Given the description of an element on the screen output the (x, y) to click on. 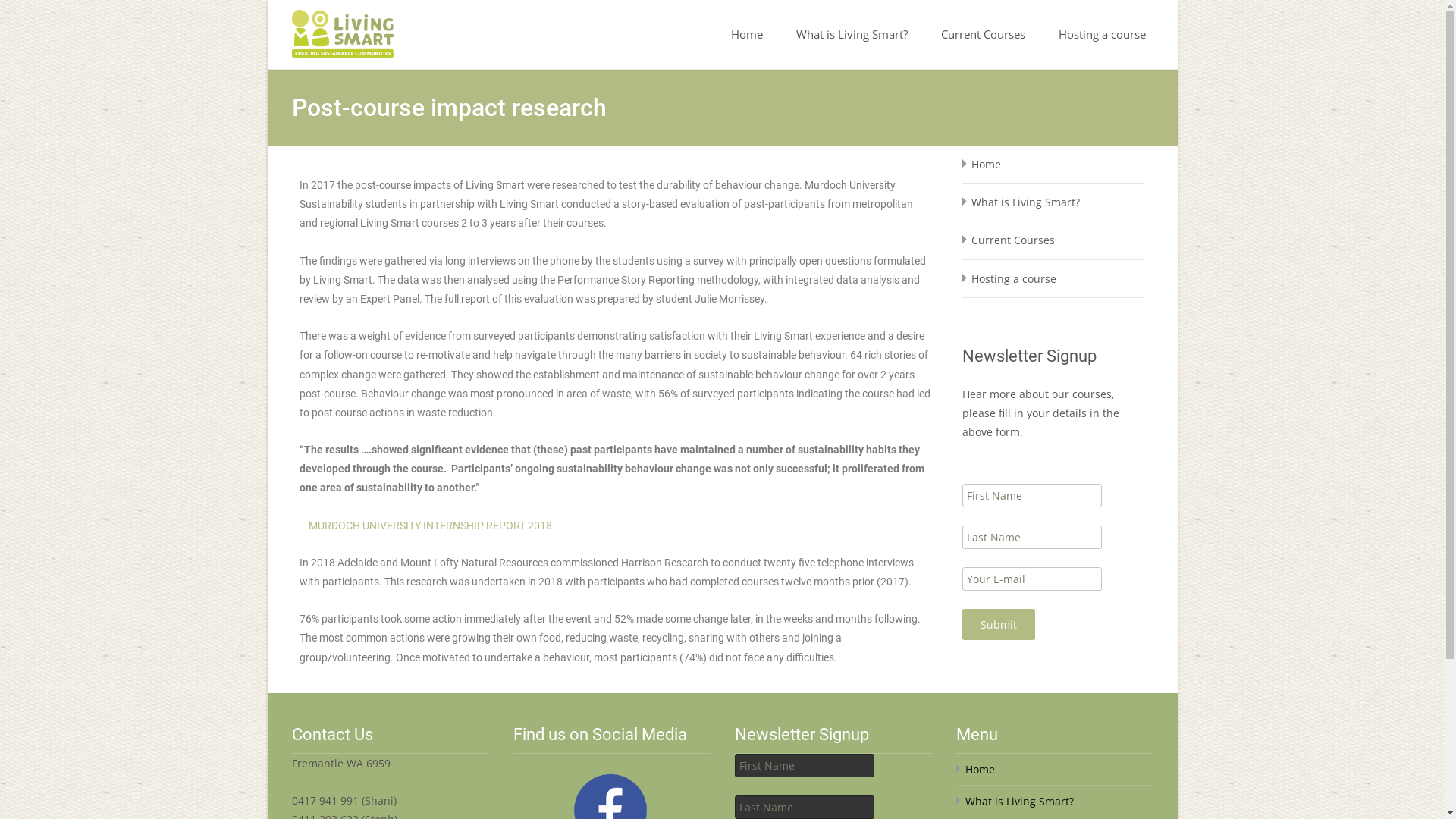
Home Element type: text (985, 163)
What is Living Smart? Element type: text (1024, 201)
What is Living Smart? Element type: text (1018, 800)
What is Living Smart? Element type: text (851, 34)
Home Element type: text (746, 34)
Living Smart Element type: hover (329, 30)
Current Courses Element type: text (982, 34)
Submit Element type: text (997, 624)
Current Courses Element type: text (1012, 239)
Hosting a course Element type: text (1012, 278)
Home Element type: text (979, 769)
Hosting a course Element type: text (1101, 34)
